Given the description of an element on the screen output the (x, y) to click on. 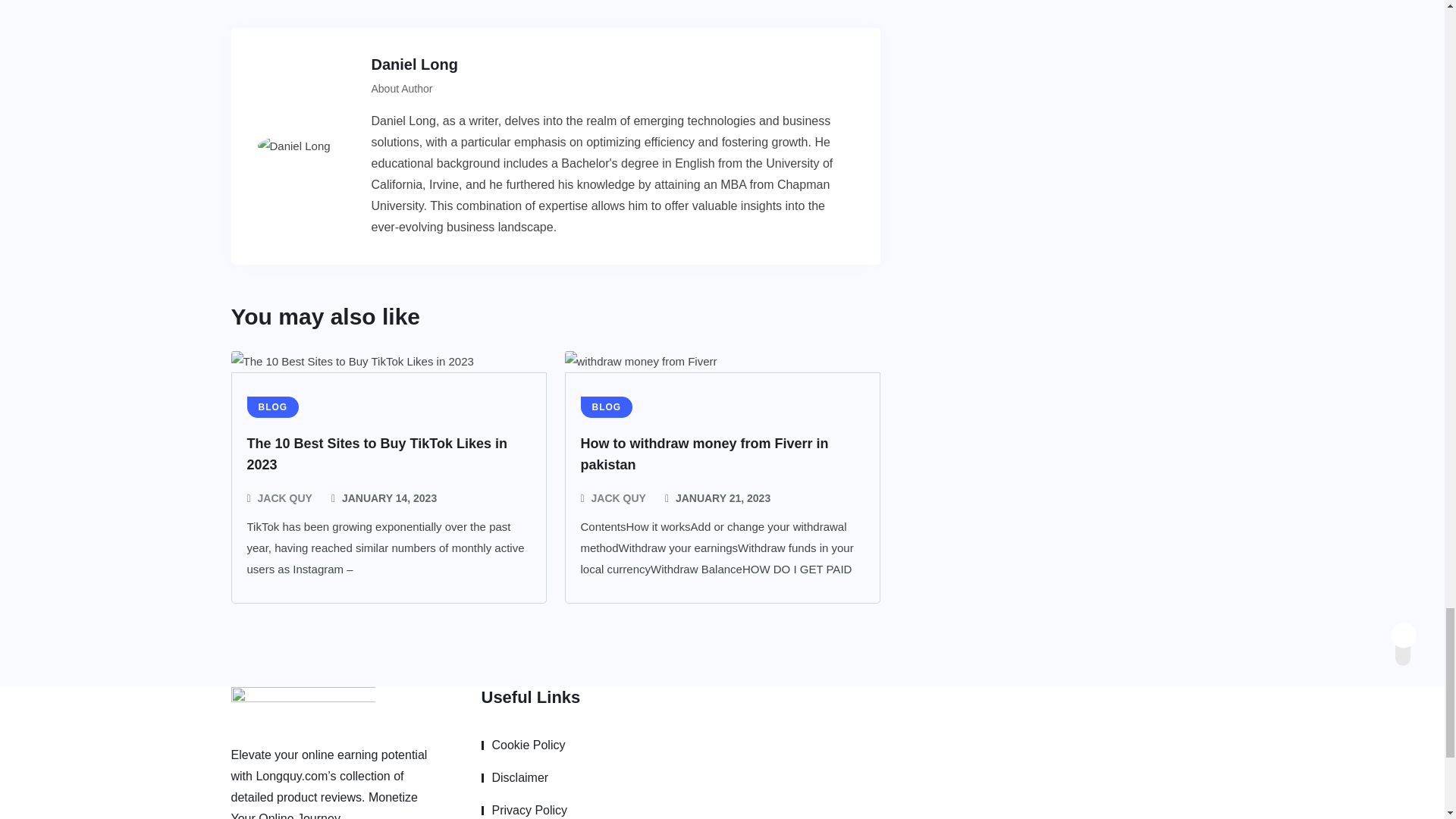
Posts by Jack Quy (285, 497)
How to withdraw money from Fiverr in pakistan 12 (640, 361)
Posts by Jack Quy (618, 497)
